Given the description of an element on the screen output the (x, y) to click on. 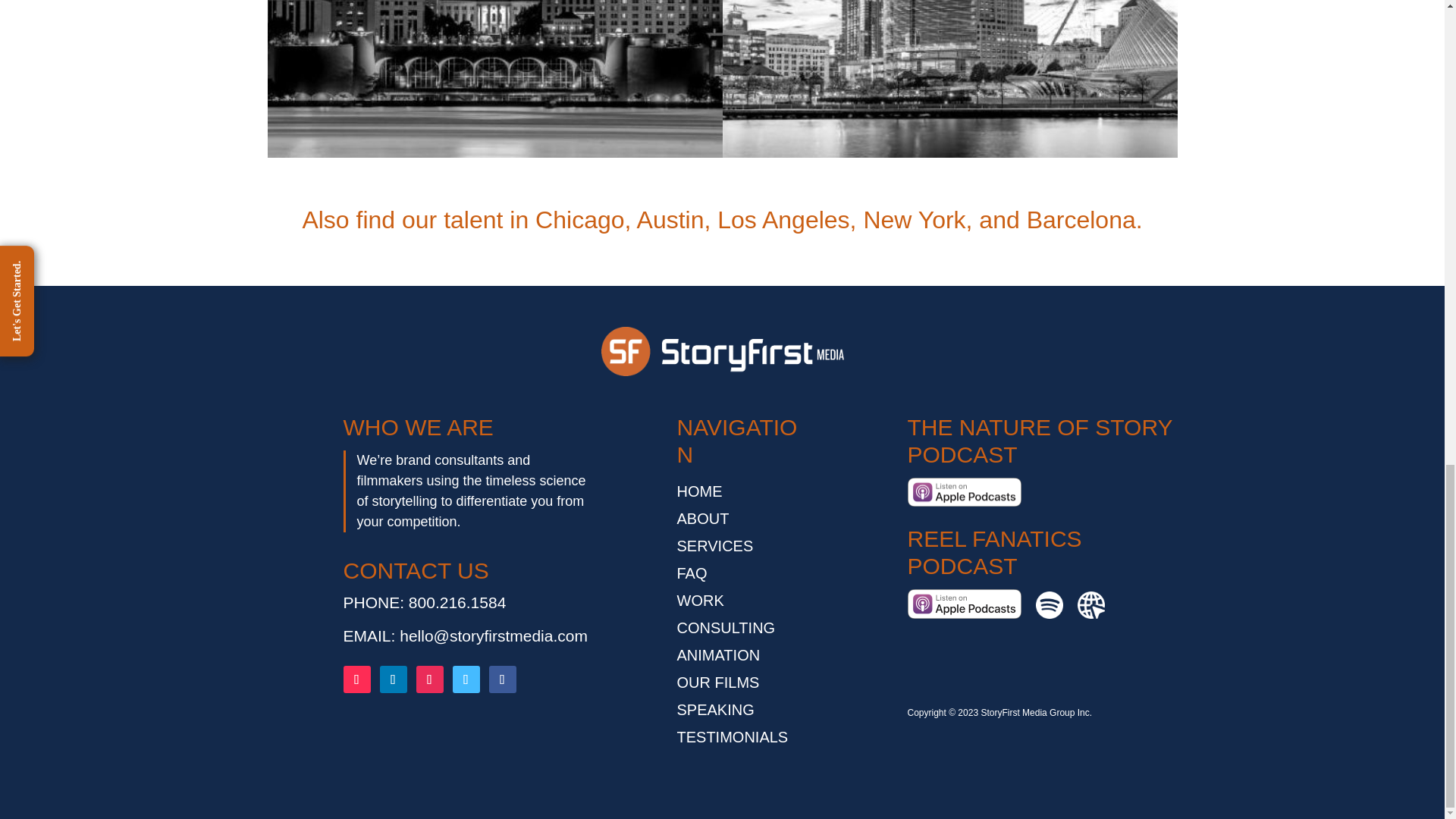
Follow on TikTok (355, 678)
applepodcasts (963, 491)
Follow on Facebook (501, 678)
Follow on Instagram (428, 678)
Follow on Vimeo (465, 678)
Follow on LinkedIn (392, 678)
SF-logo-800w (721, 350)
